Given the description of an element on the screen output the (x, y) to click on. 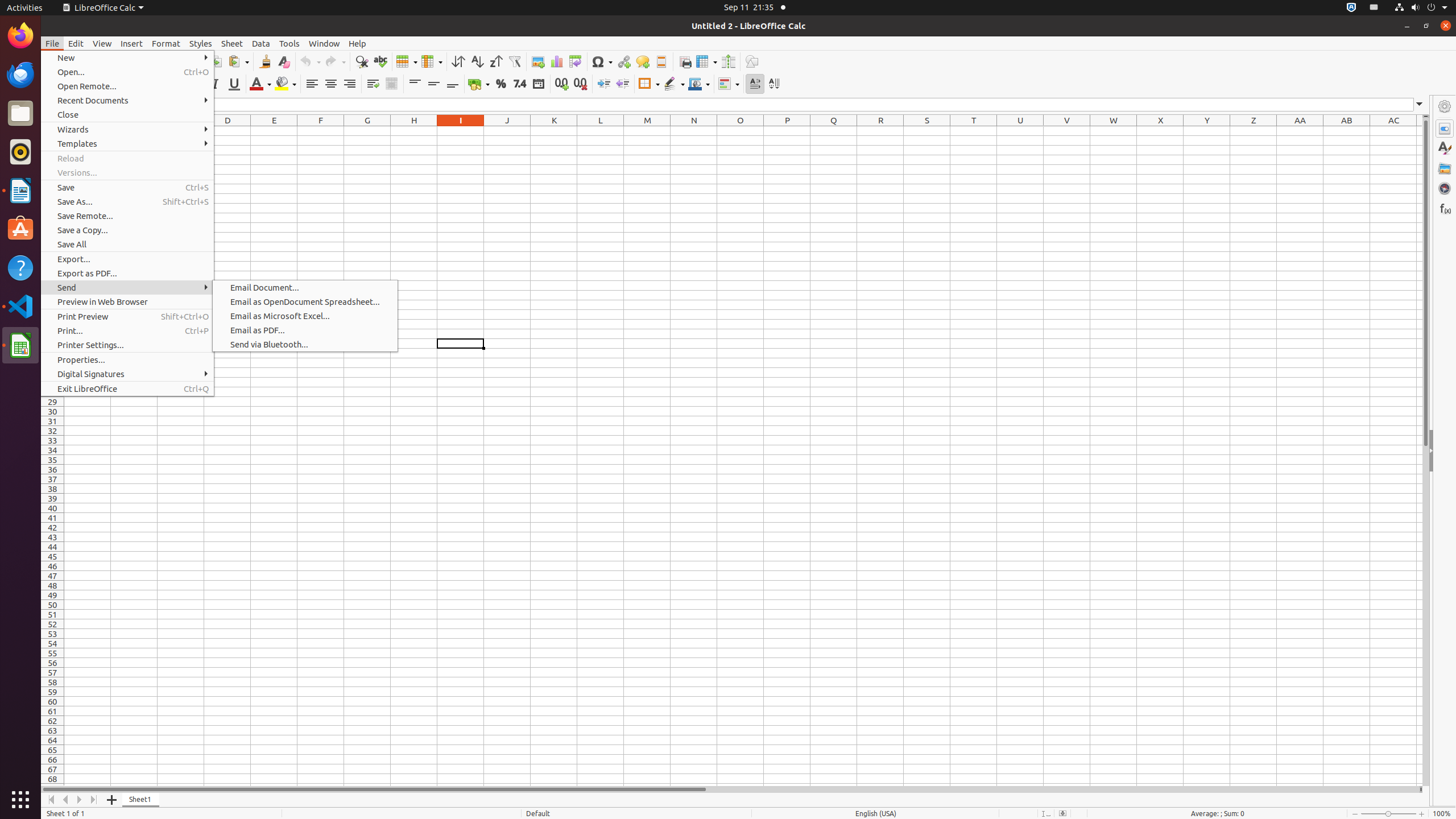
Export... Element type: menu-item (126, 258)
Z1 Element type: table-cell (1253, 130)
N1 Element type: table-cell (693, 130)
W1 Element type: table-cell (1113, 130)
Email as Microsoft Excel... Element type: menu-item (304, 315)
